Given the description of an element on the screen output the (x, y) to click on. 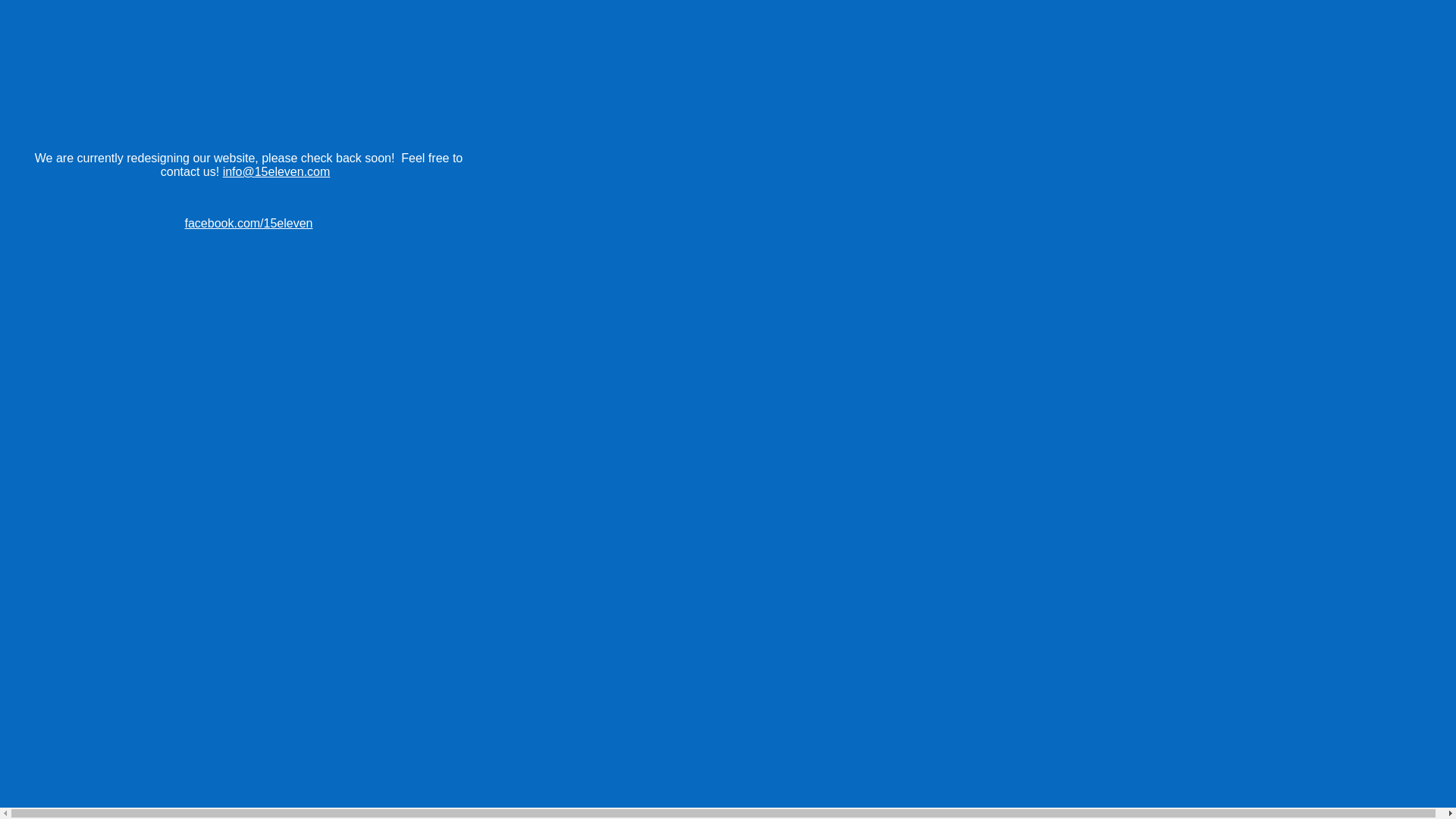
facebook.com/15eleven Element type: text (249, 222)
info@15eleven.com Element type: text (276, 171)
